Given the description of an element on the screen output the (x, y) to click on. 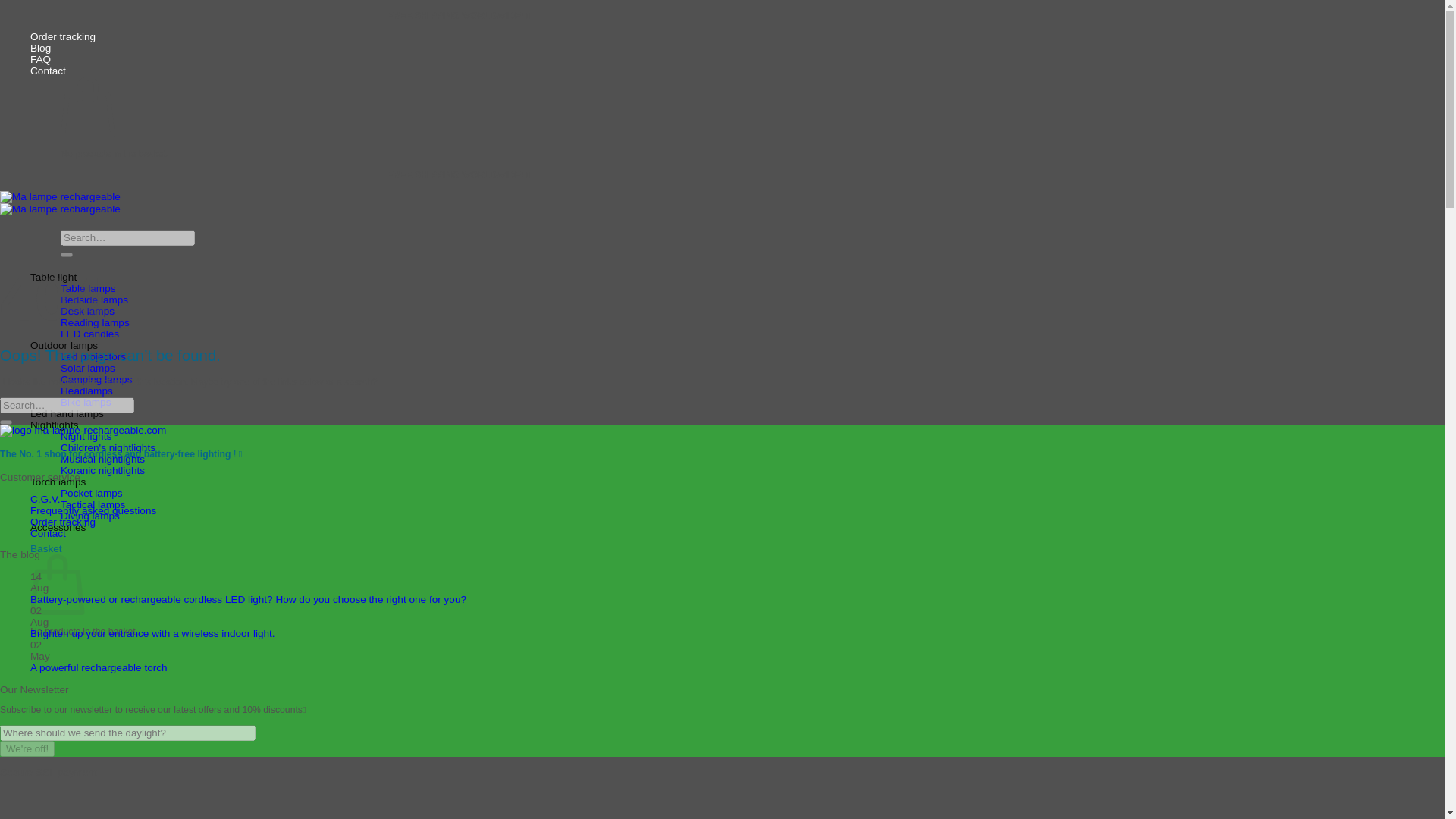
Led hand lamps (66, 413)
Solar lamps (88, 367)
Blog (40, 48)
Pocket lamps (91, 492)
Search (66, 254)
We're off! (27, 748)
Torch lamps (57, 481)
Musical nightlights (102, 459)
Reading lamps (95, 322)
FAQ (40, 59)
